Given the description of an element on the screen output the (x, y) to click on. 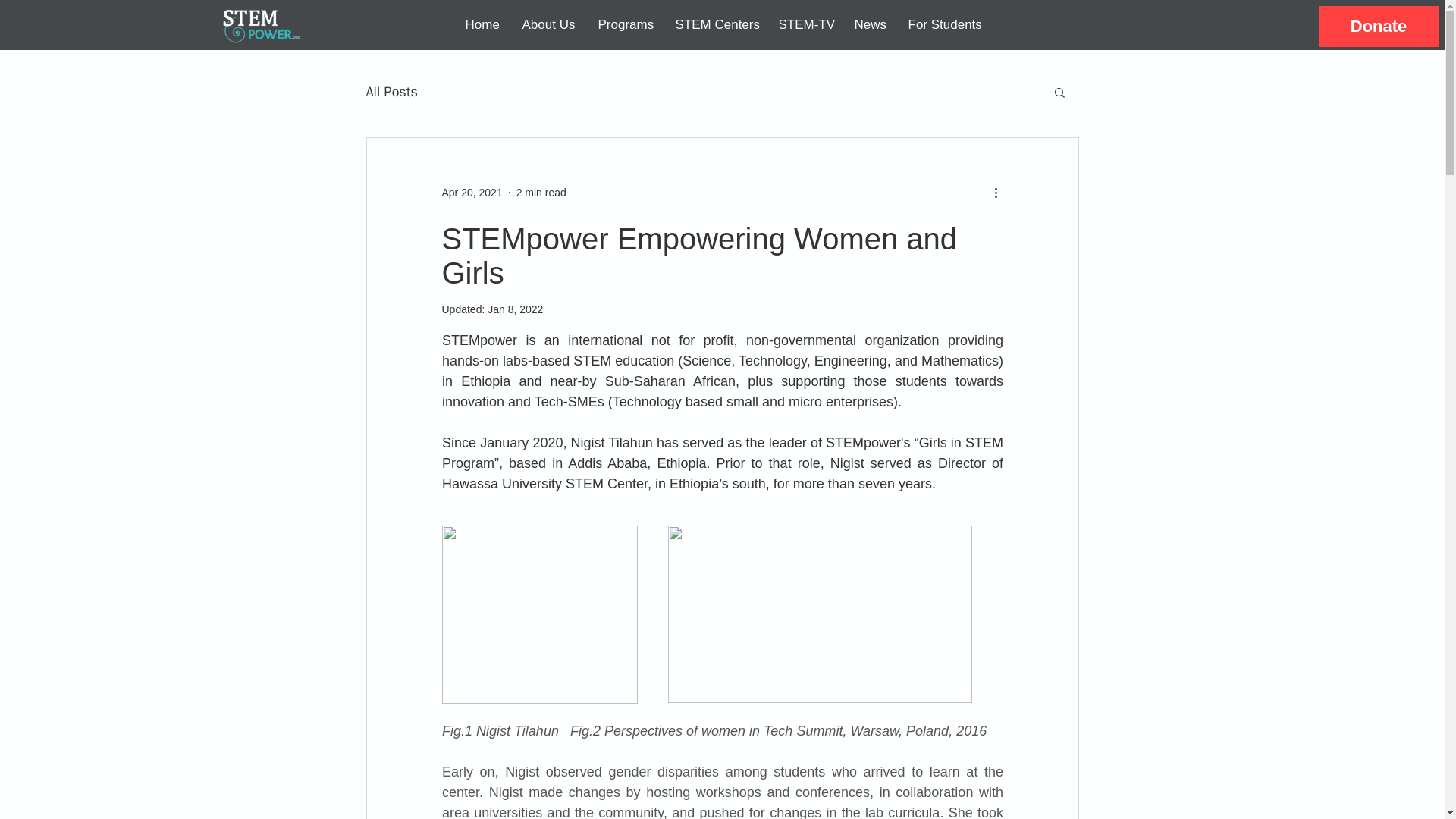
All Posts (390, 91)
Donate (1378, 25)
2 min read (541, 192)
Home (481, 24)
STEM Centers (715, 24)
About Us (548, 24)
Programs (624, 24)
Apr 20, 2021 (471, 192)
For Students (943, 24)
News (869, 24)
STEM-TV (805, 24)
Jan 8, 2022 (515, 309)
